Given the description of an element on the screen output the (x, y) to click on. 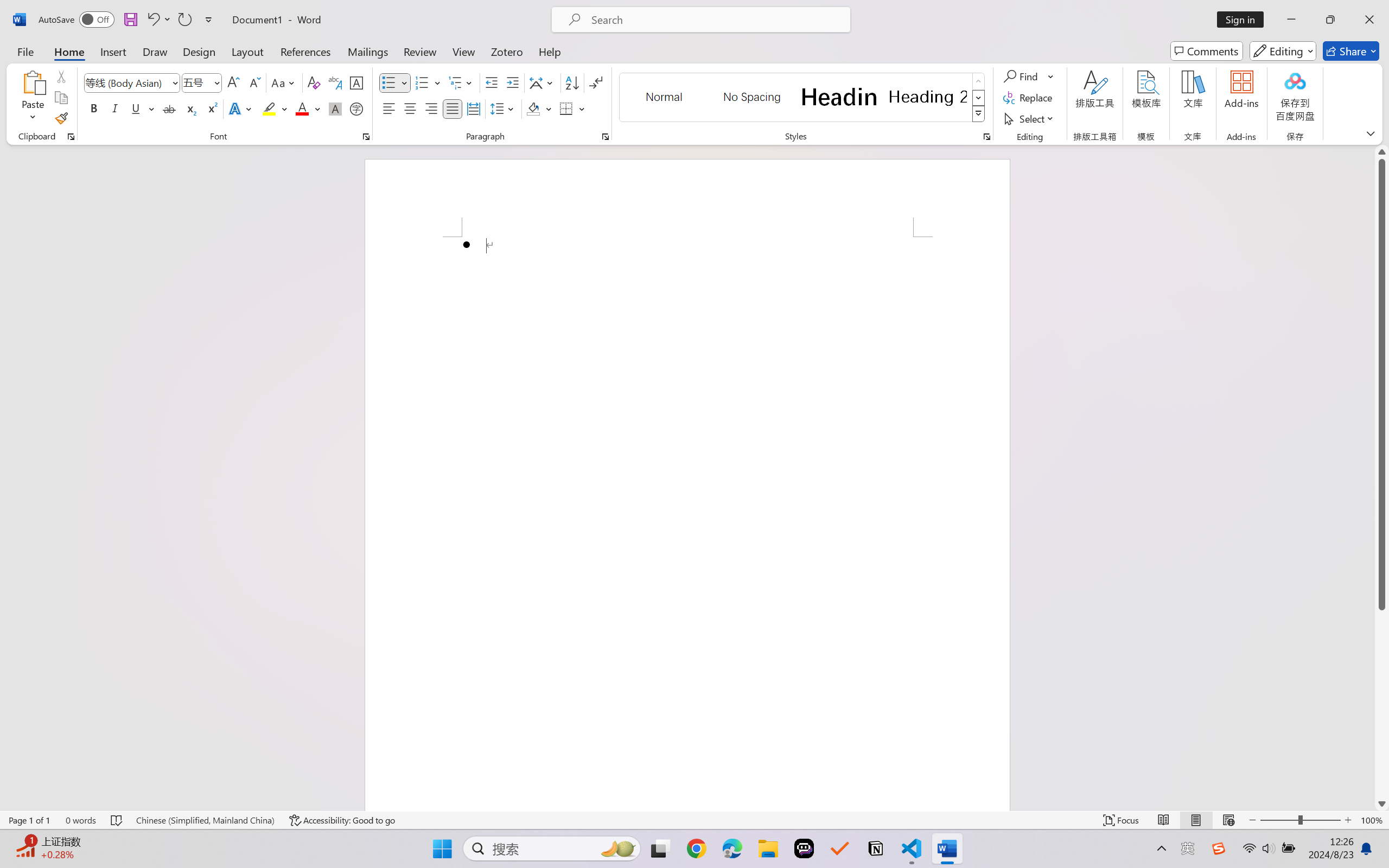
Saved (726, 345)
Translate by voice (358, 245)
Swap languages (Ctrl+Shift+S) (690, 146)
